Given the description of an element on the screen output the (x, y) to click on. 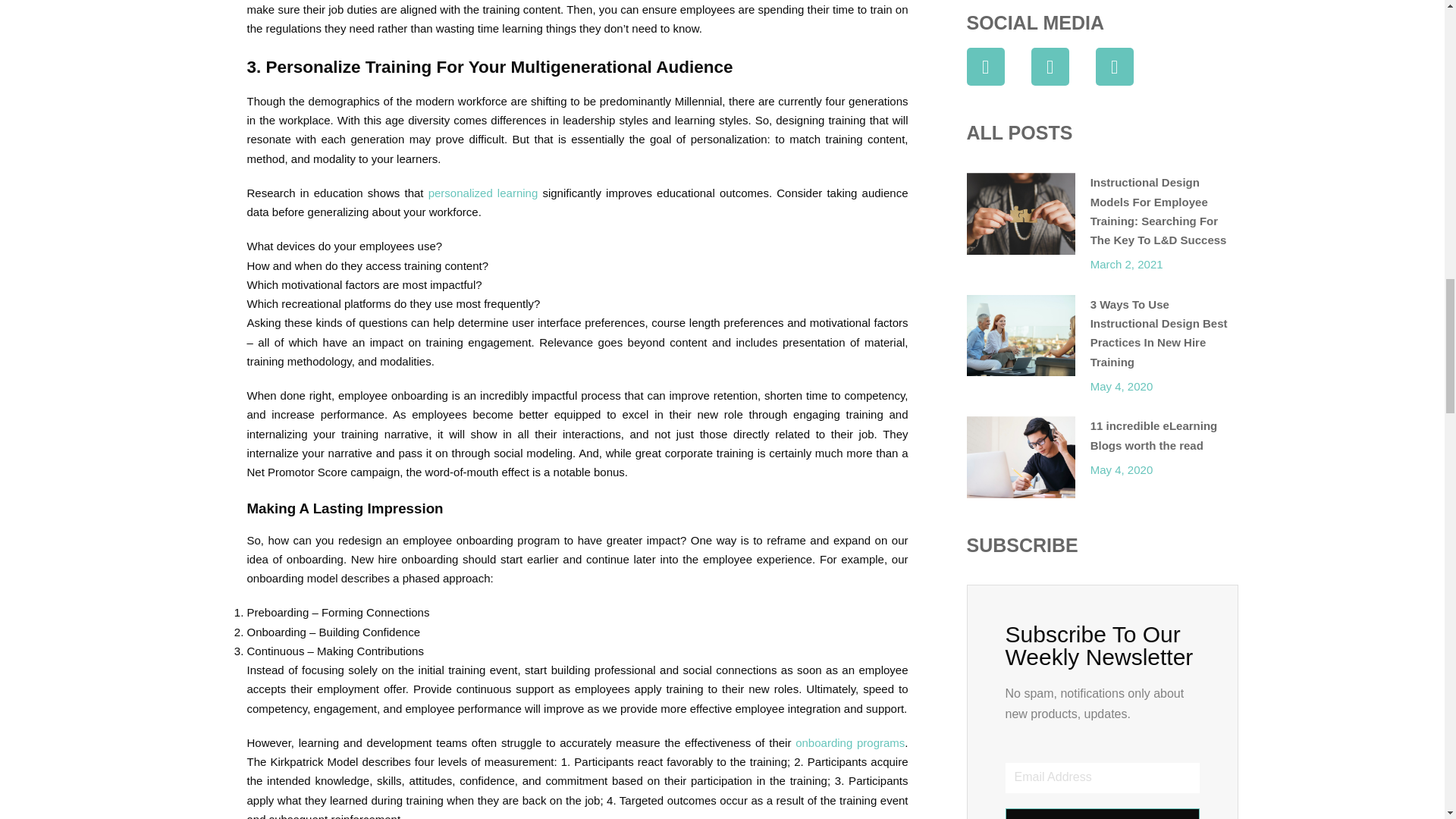
personalized learning (483, 192)
SUBSCRIBE (1102, 813)
11 incredible eLearning Blogs worth the read (1153, 435)
onboarding programs (849, 742)
